Given the description of an element on the screen output the (x, y) to click on. 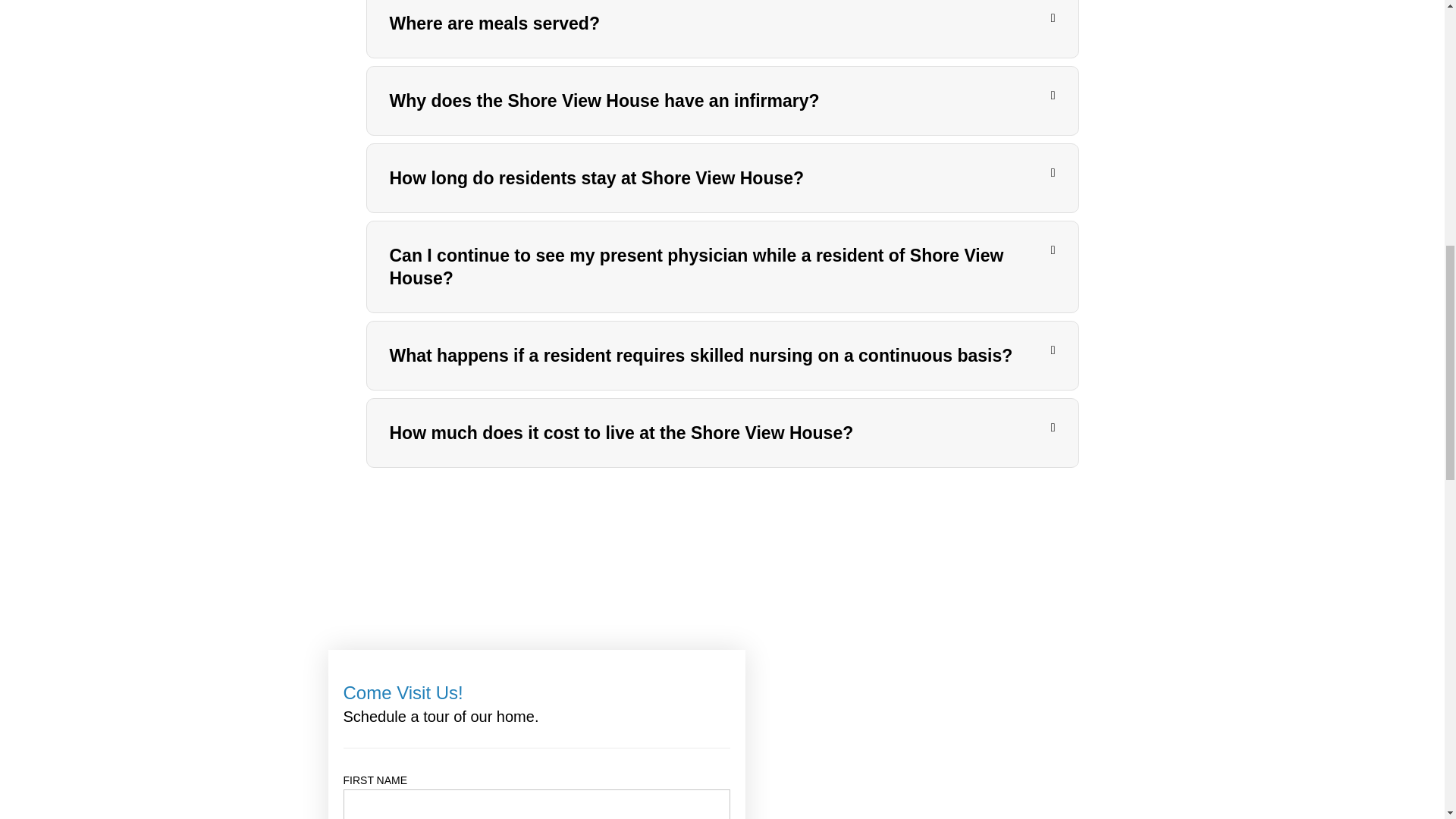
How much does it cost to live at the Shore View House? (621, 433)
How long do residents stay at Shore View House? (597, 178)
Why does the Shore View House have an infirmary? (604, 100)
Where are meals served? (494, 23)
